Given the description of an element on the screen output the (x, y) to click on. 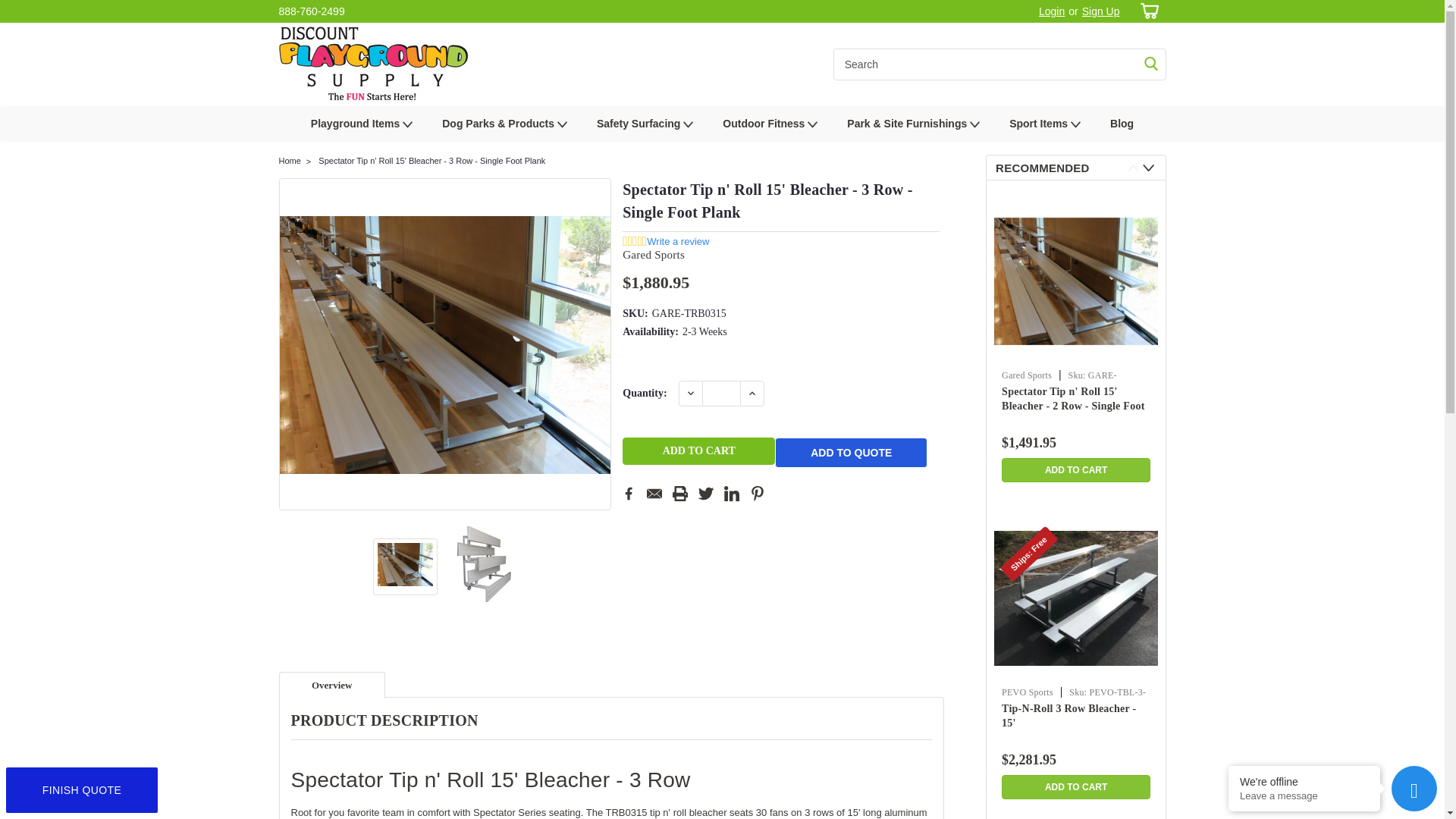
Spectator Tip n' Roll 15' Bleacher - 3 Row (445, 345)
Discount Playground Supply (373, 64)
Sign Up (1098, 11)
Email (654, 493)
Spectator Tip n' Roll 15' Bleacher - 3 Row (404, 564)
1 (721, 393)
submit (1150, 63)
Add to Cart (698, 451)
Facebook (628, 493)
Login (1051, 11)
Twitter (705, 493)
Print (679, 493)
